Given the description of an element on the screen output the (x, y) to click on. 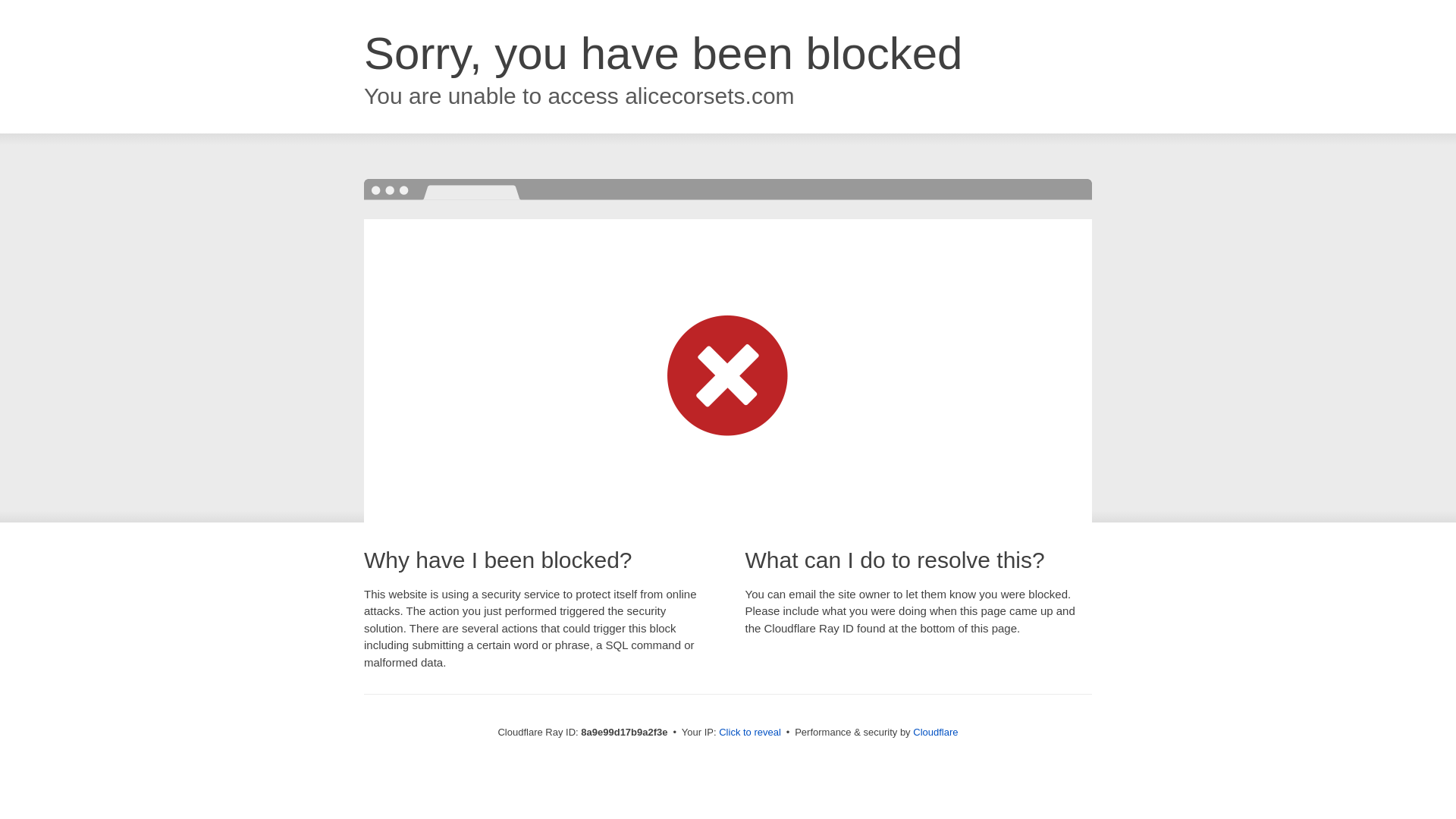
Click to reveal (749, 732)
Cloudflare (935, 731)
